Given the description of an element on the screen output the (x, y) to click on. 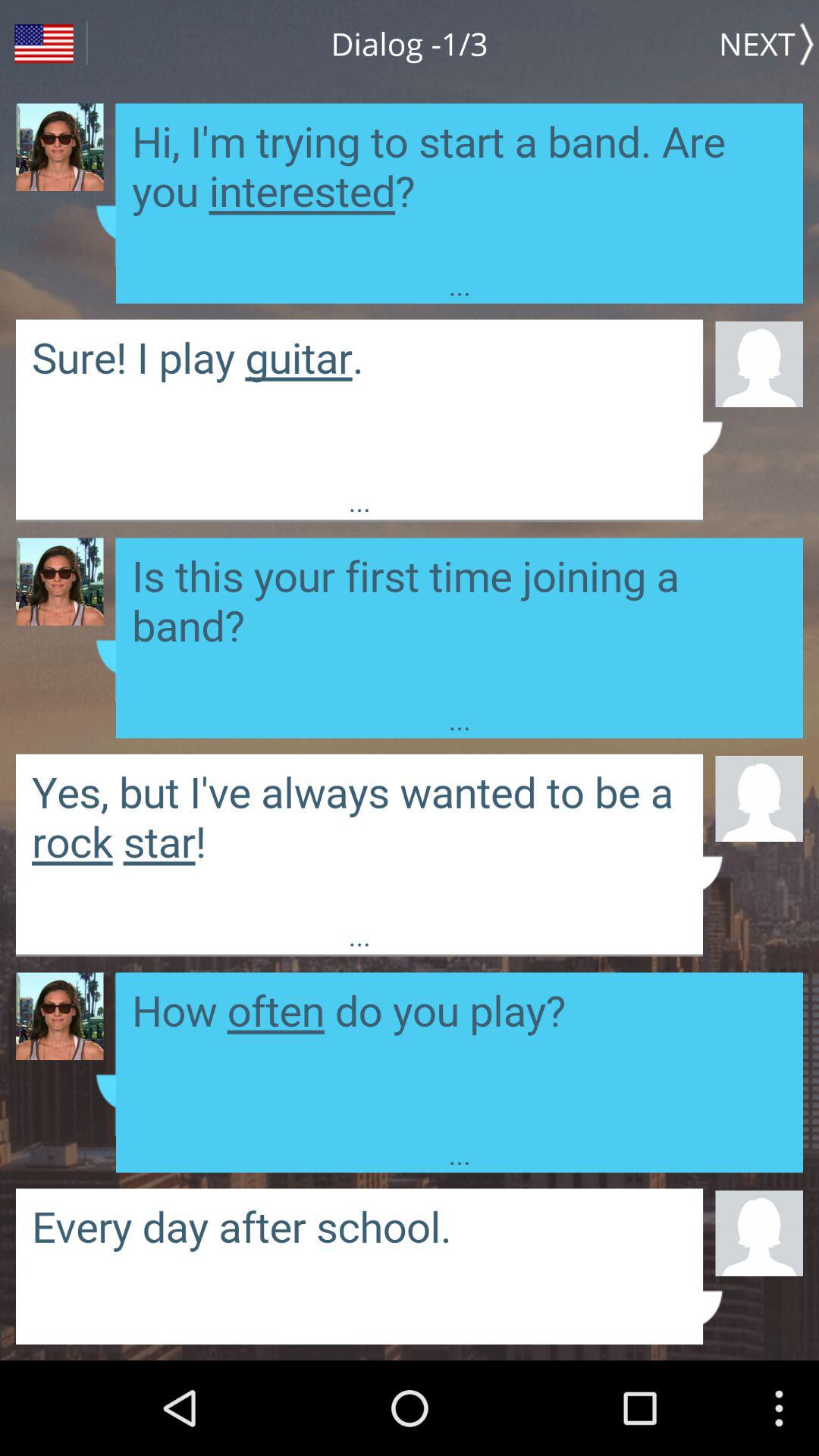
go to message area (358, 835)
